Given the description of an element on the screen output the (x, y) to click on. 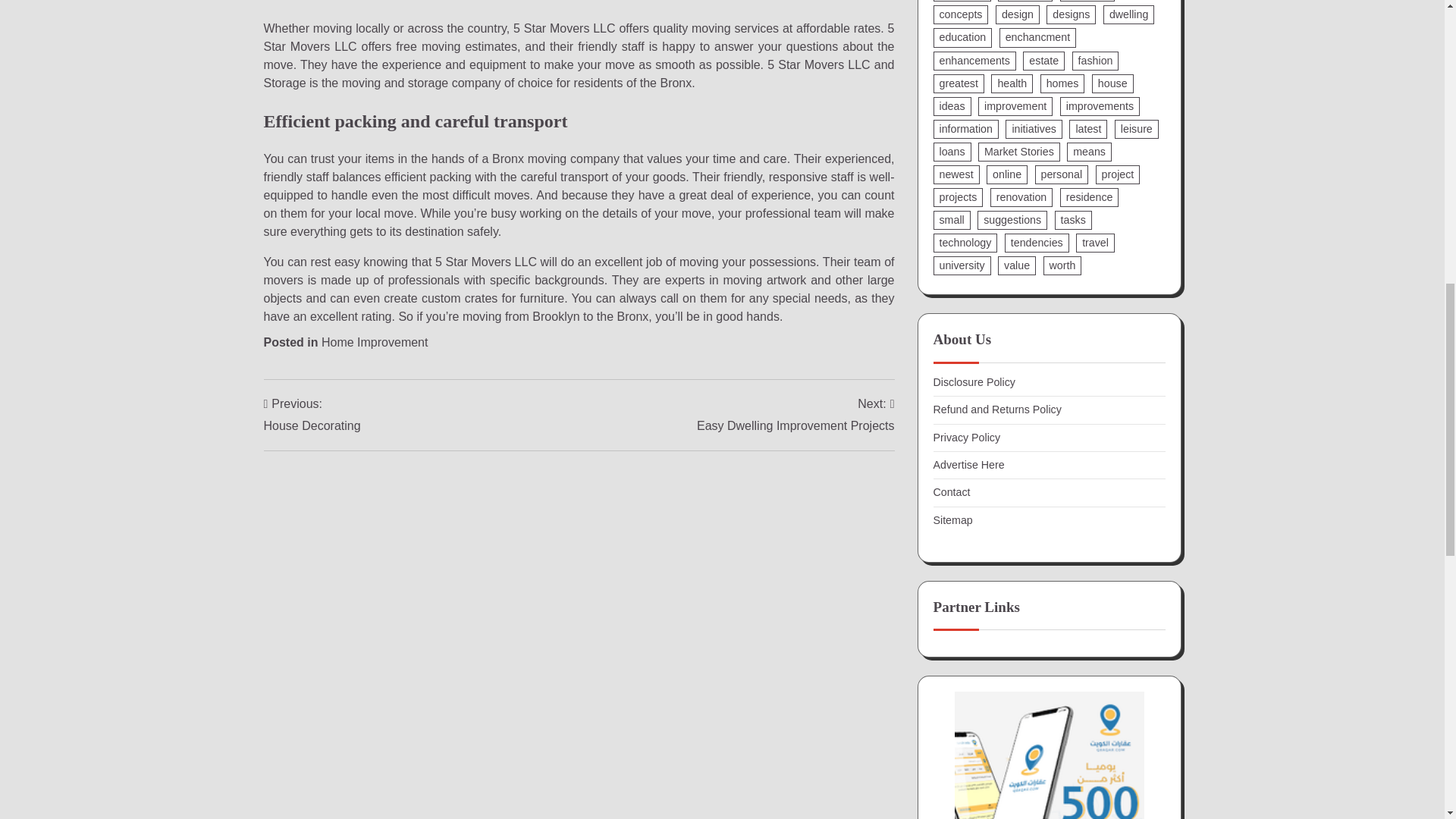
concepts (960, 14)
dwelling (1128, 14)
design (1017, 14)
designs (1071, 14)
bedroom (1024, 0)
bathroom (961, 0)
enhancements (973, 60)
enchancment (1036, 36)
Home Improvement (374, 341)
